Given the description of an element on the screen output the (x, y) to click on. 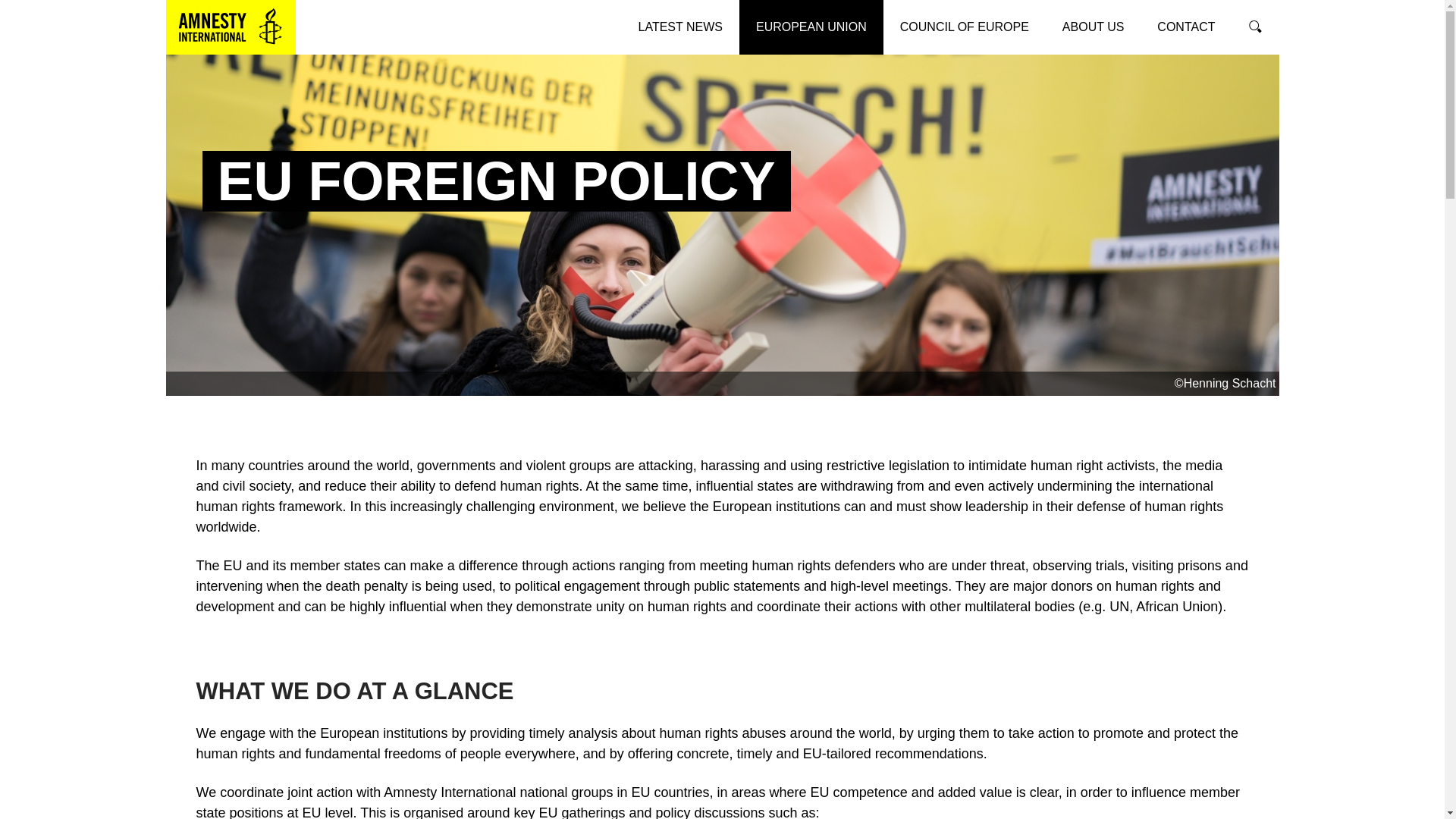
EUROPEAN UNION (811, 27)
CONTACT (1185, 27)
LATEST NEWS (680, 27)
COUNCIL OF EUROPE (964, 27)
ABOUT US (1093, 27)
